Given the description of an element on the screen output the (x, y) to click on. 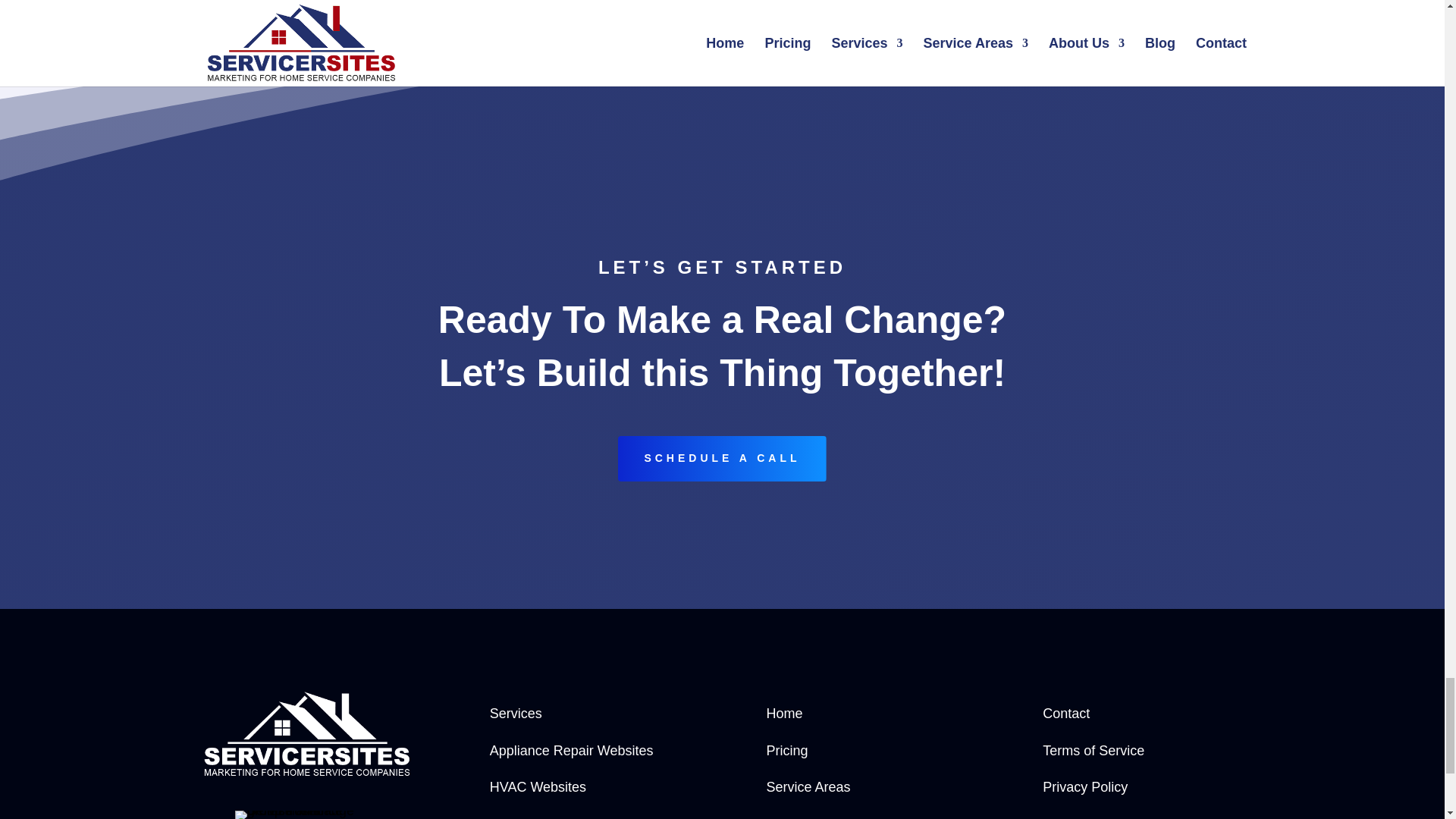
service-alliance-group-trust-badge-professional (307, 814)
SERVICER SITES LOGO 500x216 (307, 734)
